Given the description of an element on the screen output the (x, y) to click on. 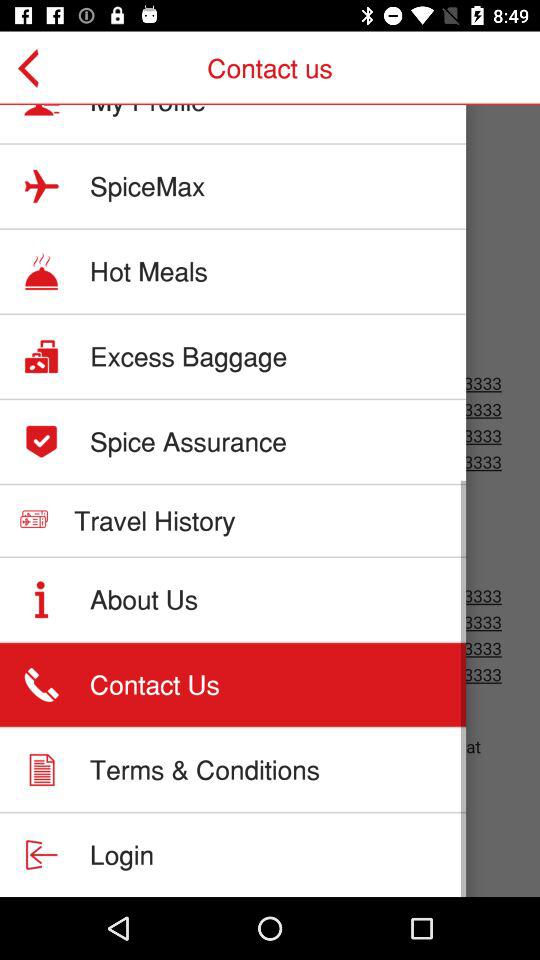
turn off item below contact us (204, 769)
